Given the description of an element on the screen output the (x, y) to click on. 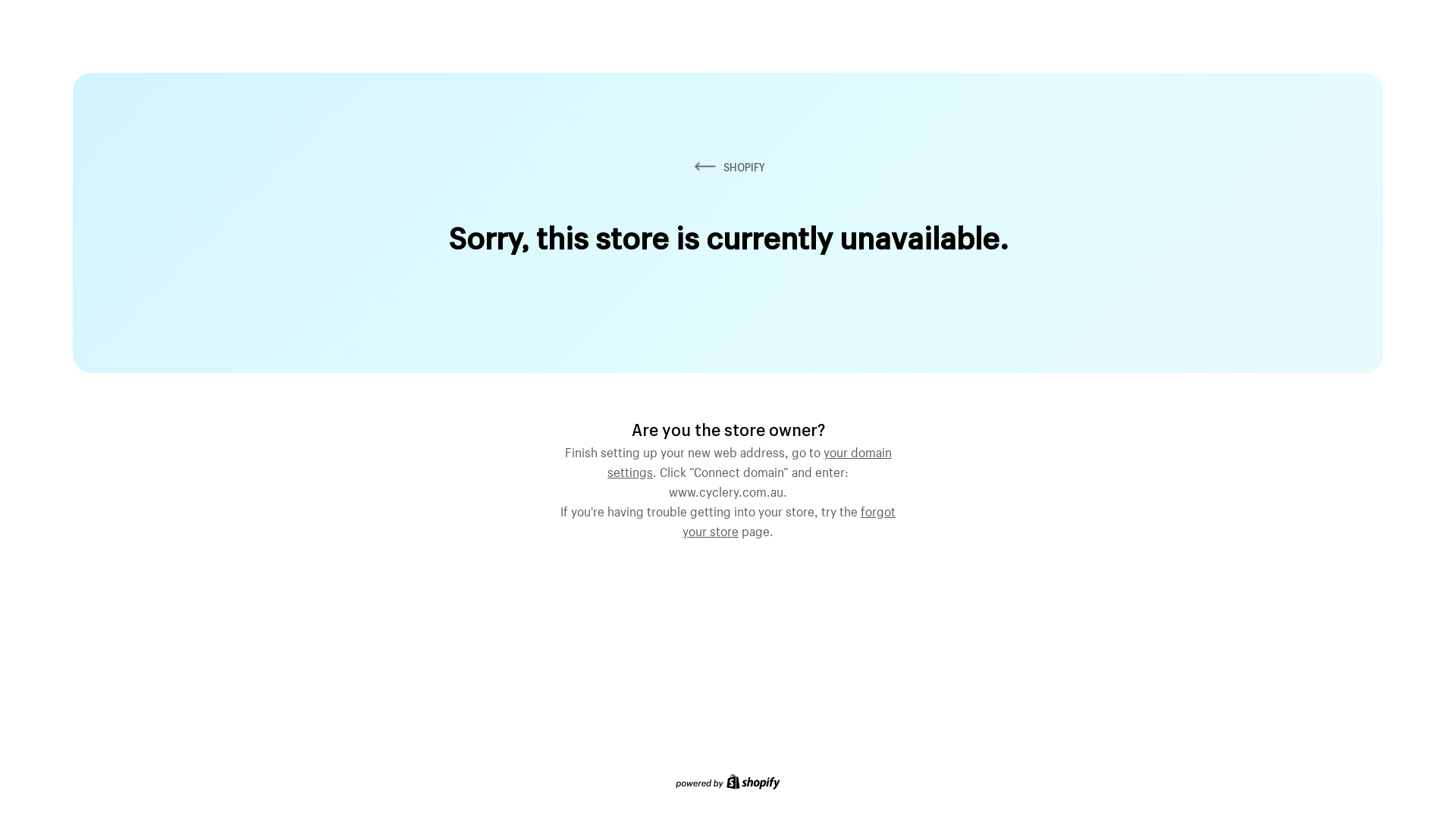
forgot your store Element type: text (788, 519)
SHOPIFY Element type: text (727, 167)
your domain settings Element type: text (749, 460)
